Given the description of an element on the screen output the (x, y) to click on. 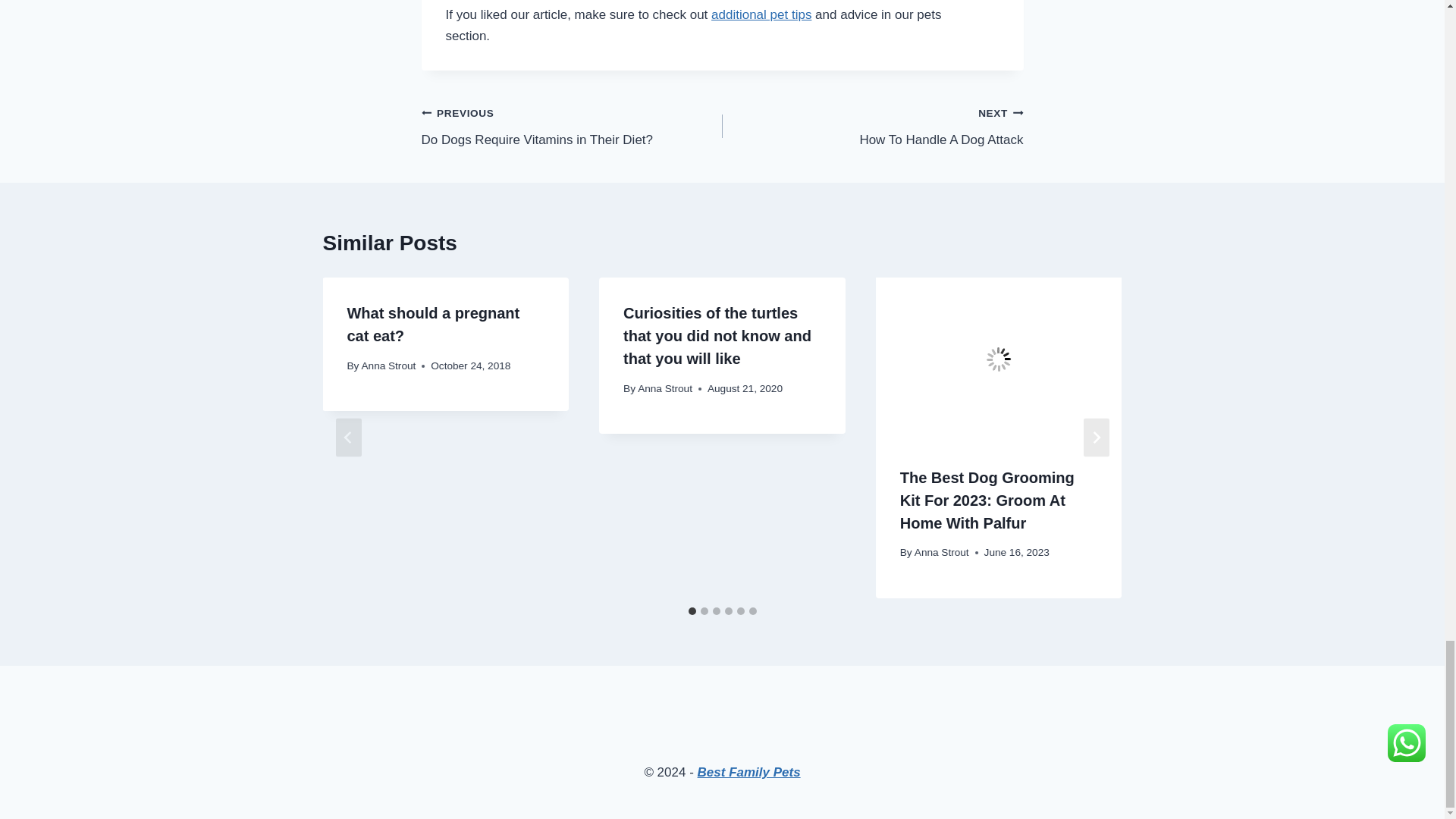
additional pet tips (572, 125)
